Given the description of an element on the screen output the (x, y) to click on. 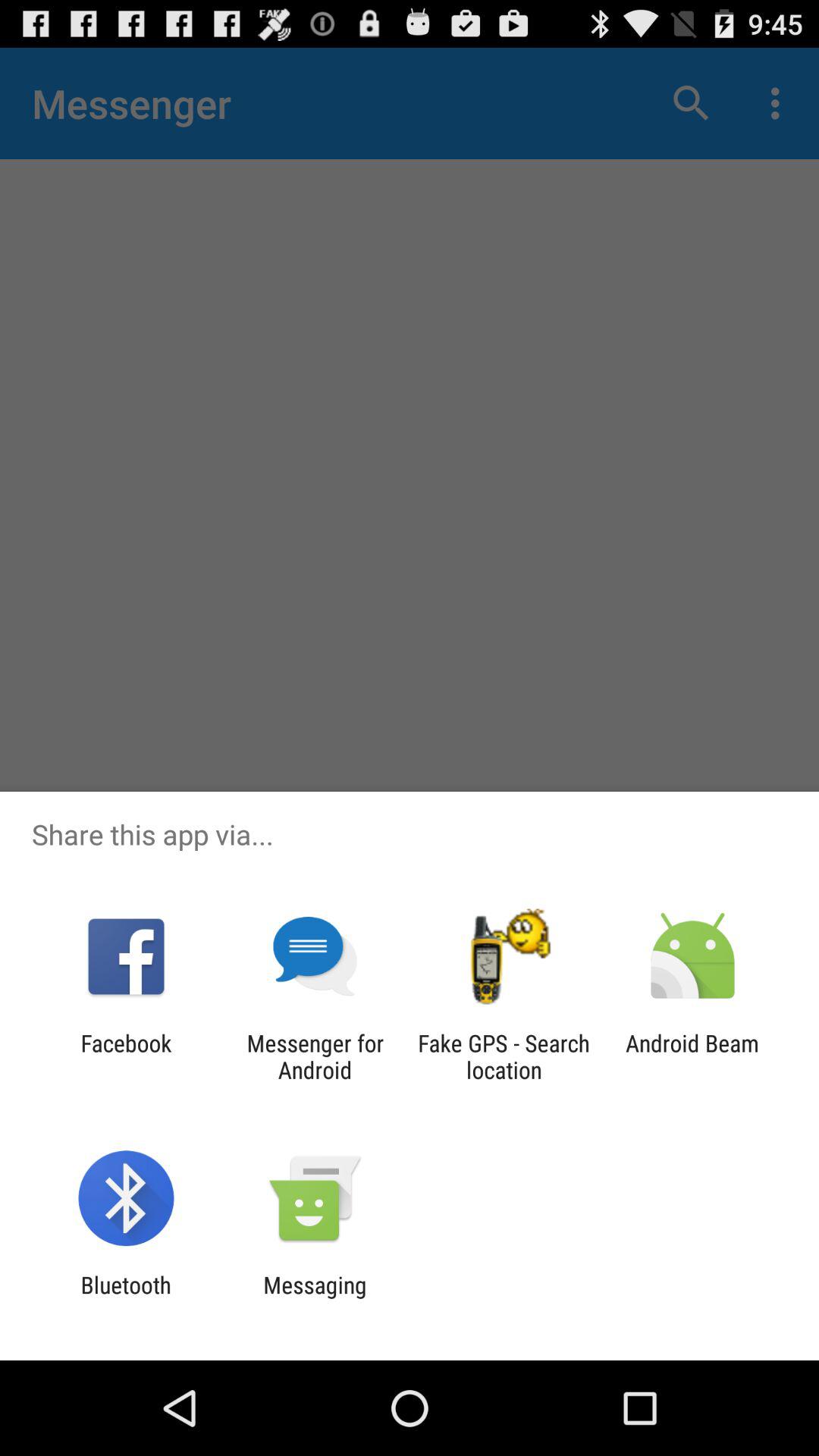
swipe to the android beam app (692, 1056)
